Given the description of an element on the screen output the (x, y) to click on. 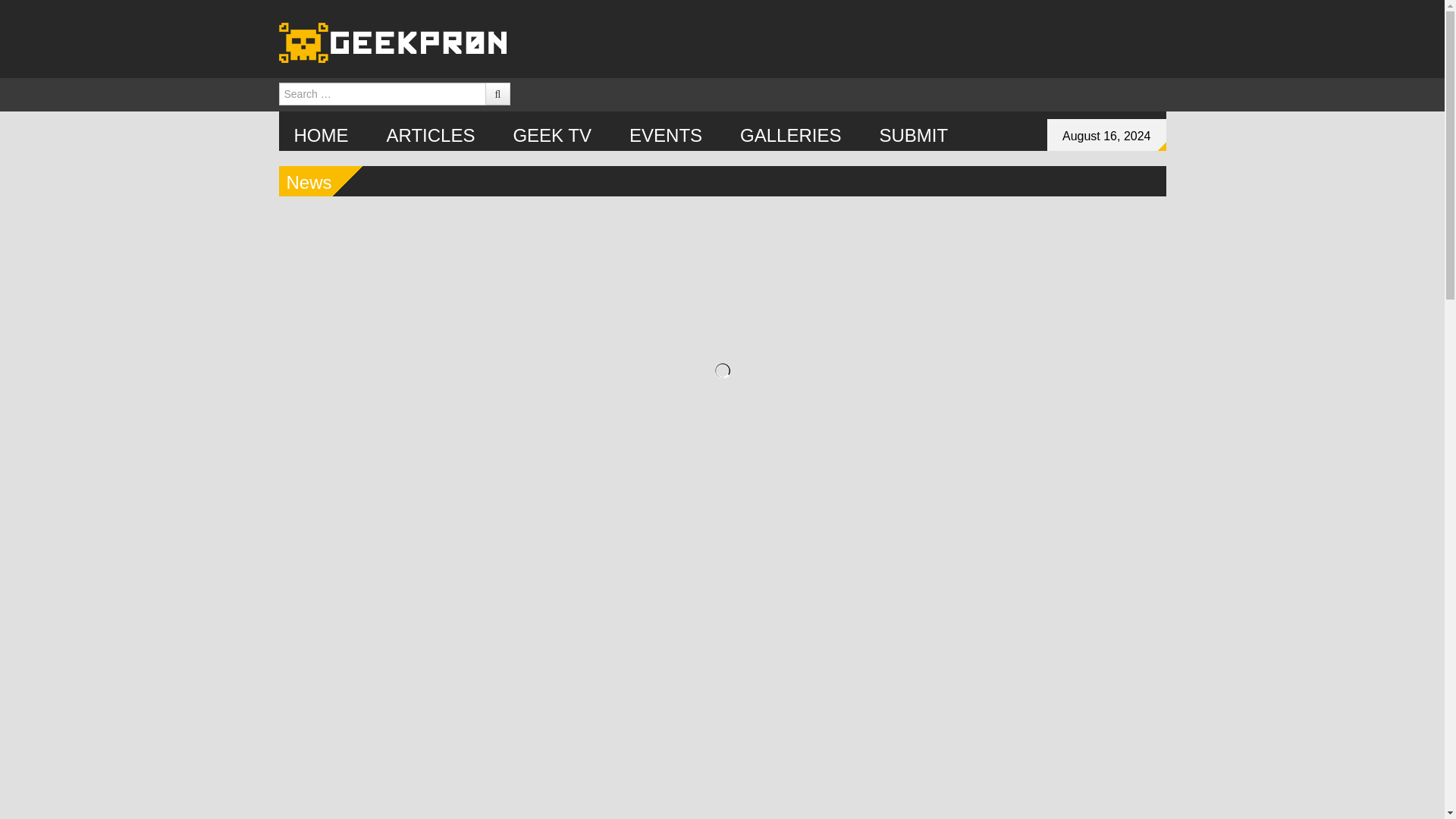
SUBMIT (912, 133)
GEEK TV (552, 133)
EVENTS (665, 133)
Skip to content (376, 127)
GALLERIES (790, 133)
SKIP TO CONTENT (376, 127)
August 16, 2024 (1106, 134)
Search (318, 9)
HOME (321, 133)
ARTICLES (430, 133)
